Given the description of an element on the screen output the (x, y) to click on. 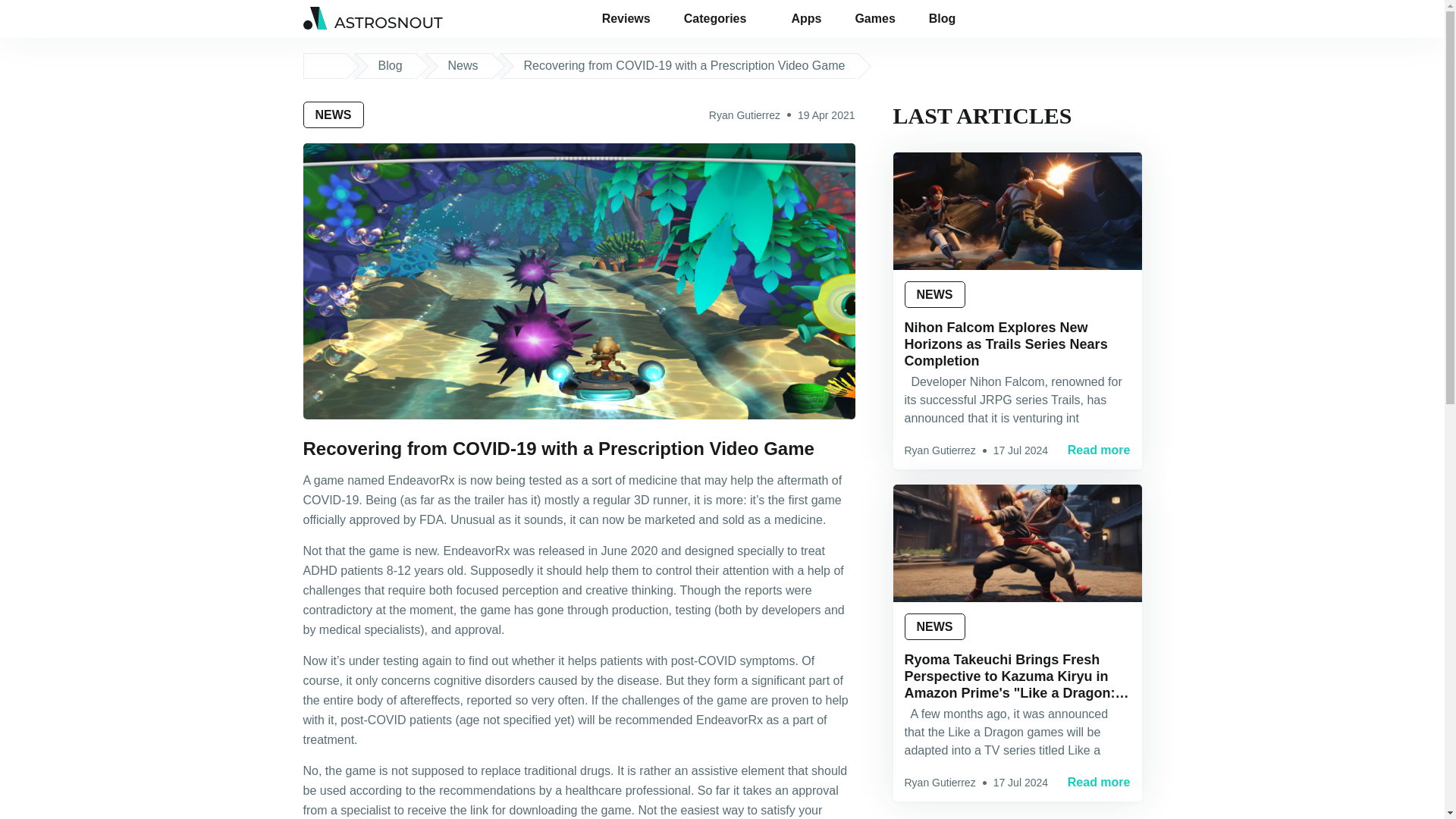
Categories (721, 18)
Apps (805, 18)
Reviews (626, 18)
Games (874, 18)
Blog (389, 65)
Blog (948, 18)
News (463, 65)
NEWS (333, 114)
